Given the description of an element on the screen output the (x, y) to click on. 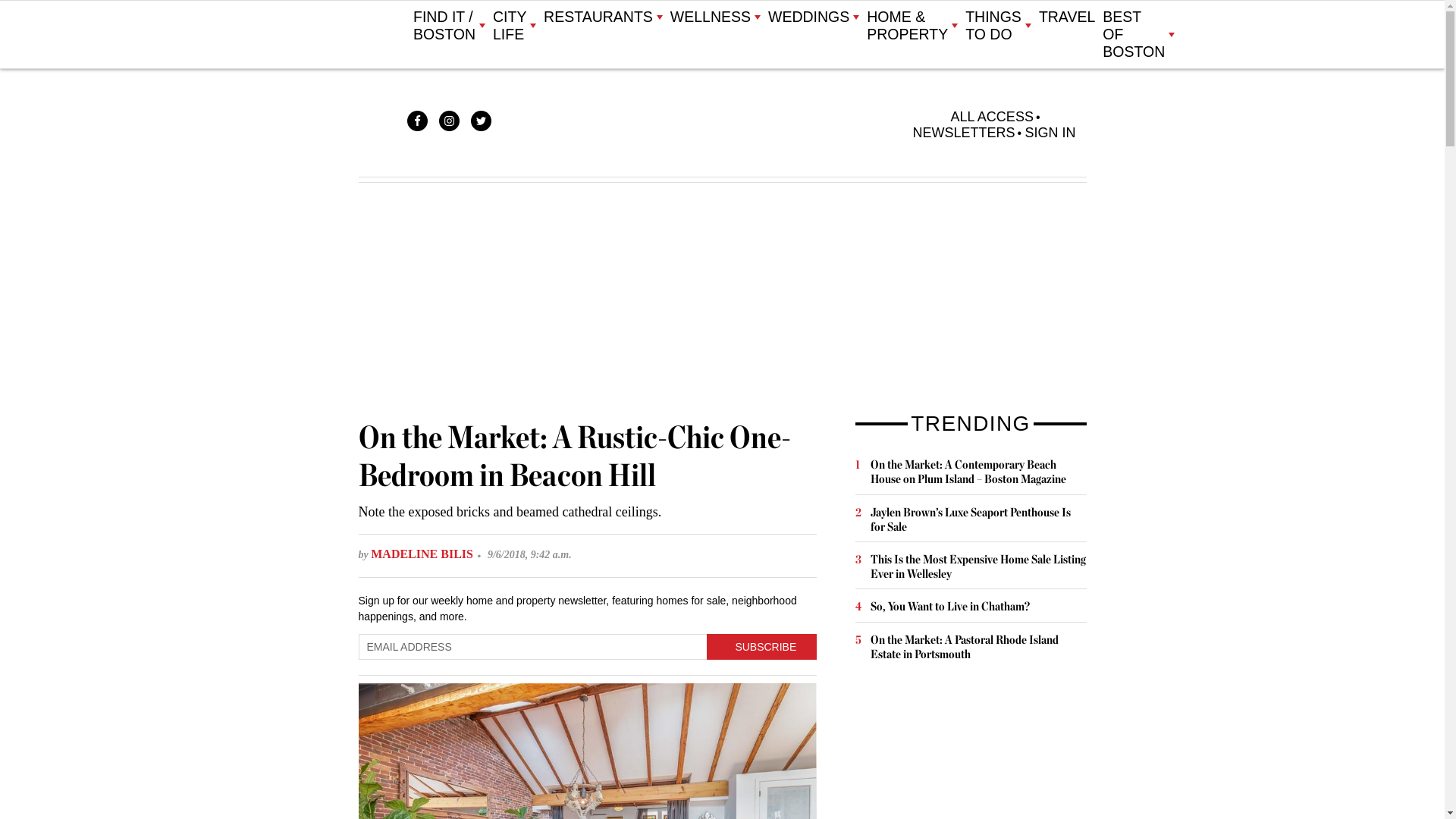
THINGS TO DO (997, 25)
RESTAURANTS (602, 16)
WELLNESS (714, 16)
3rd party ad content (969, 751)
WEDDINGS (813, 16)
Subscribe (761, 646)
